Given the description of an element on the screen output the (x, y) to click on. 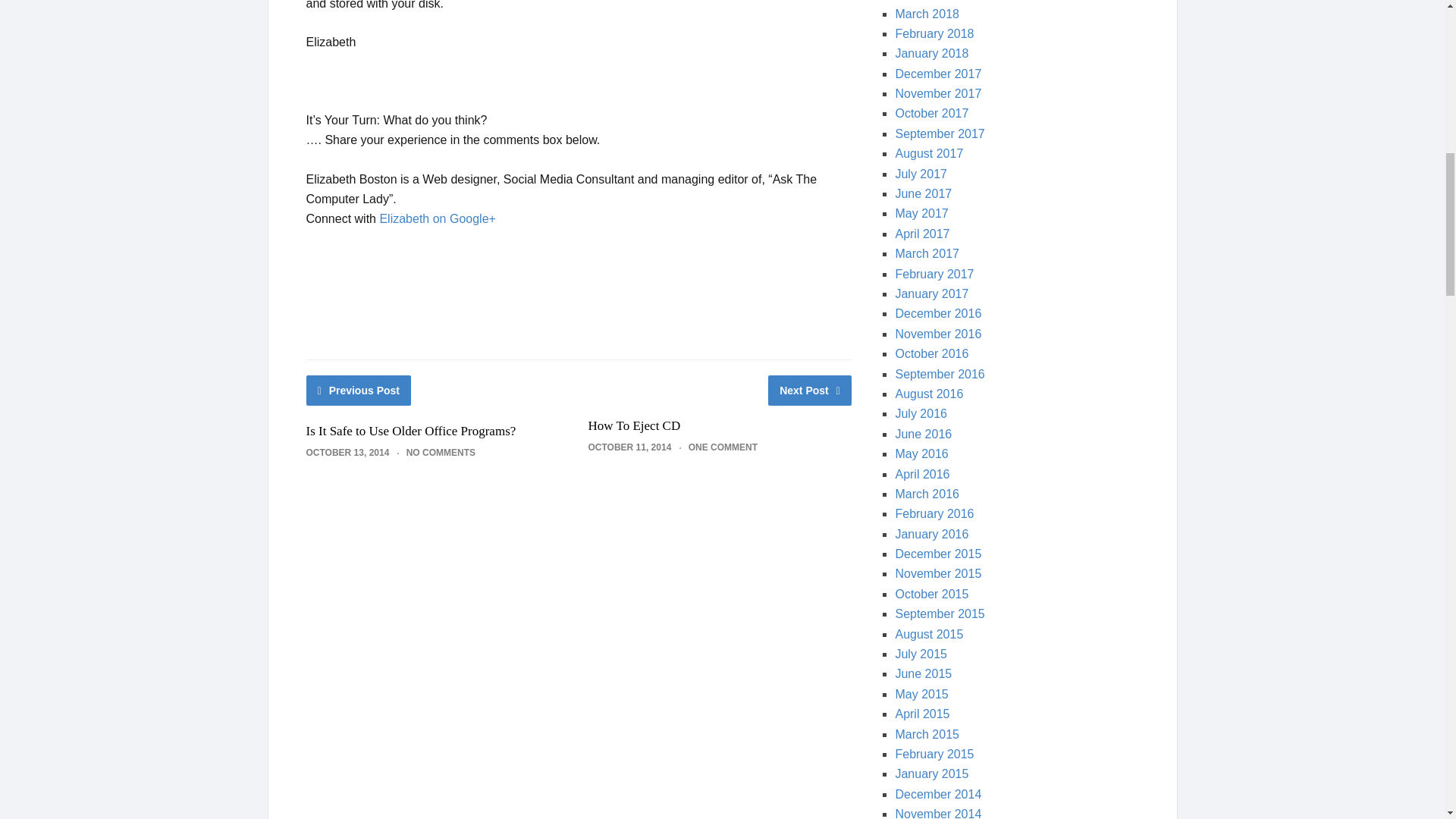
NO COMMENTS (441, 452)
Next Post (809, 390)
February 2018 (934, 33)
October 2017 (931, 113)
December 2017 (938, 73)
Previous Post (358, 390)
How To Eject CD (633, 425)
September 2017 (939, 133)
November 2017 (938, 92)
January 2018 (931, 52)
